Given the description of an element on the screen output the (x, y) to click on. 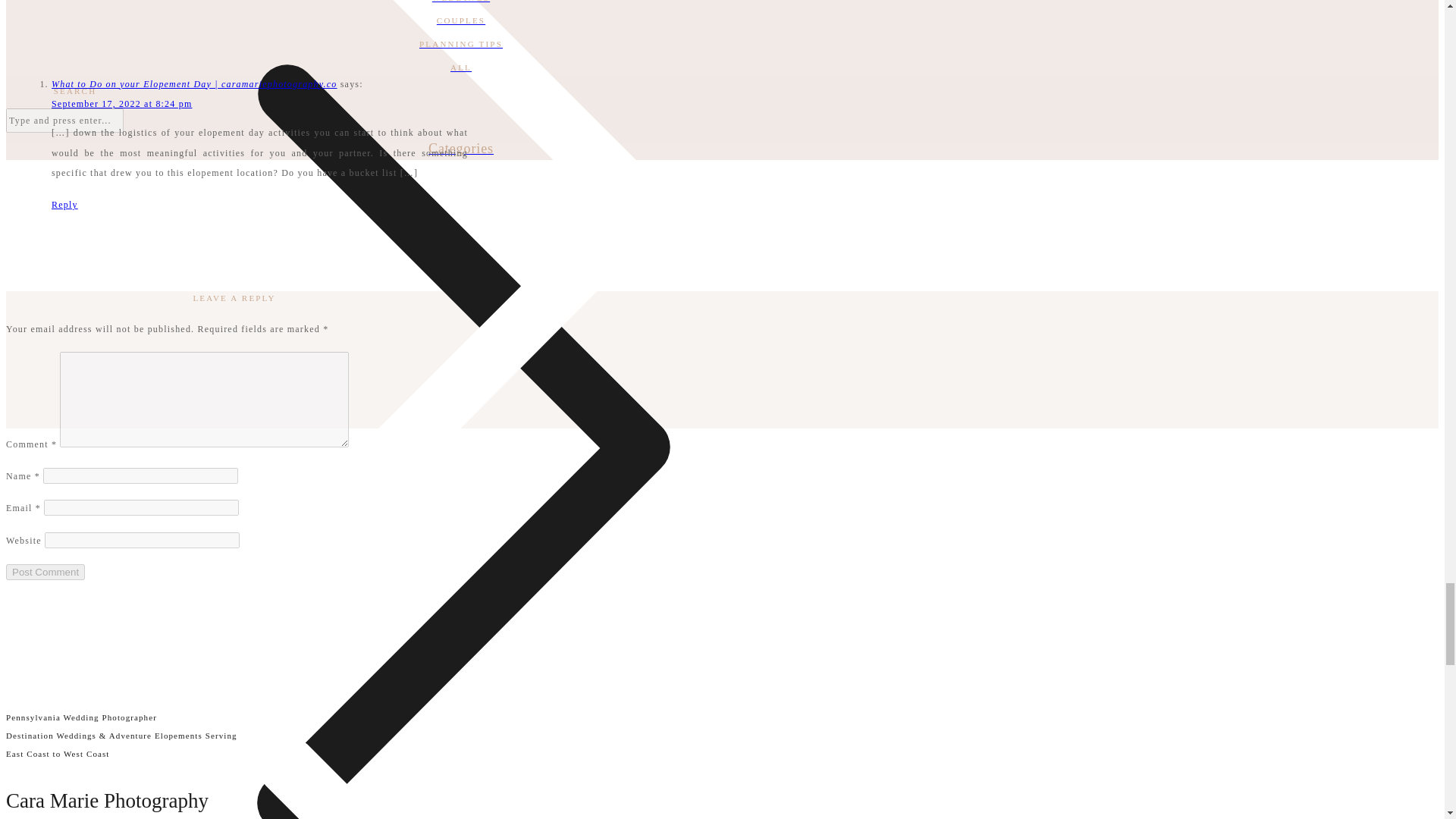
Post Comment (44, 571)
